Given the description of an element on the screen output the (x, y) to click on. 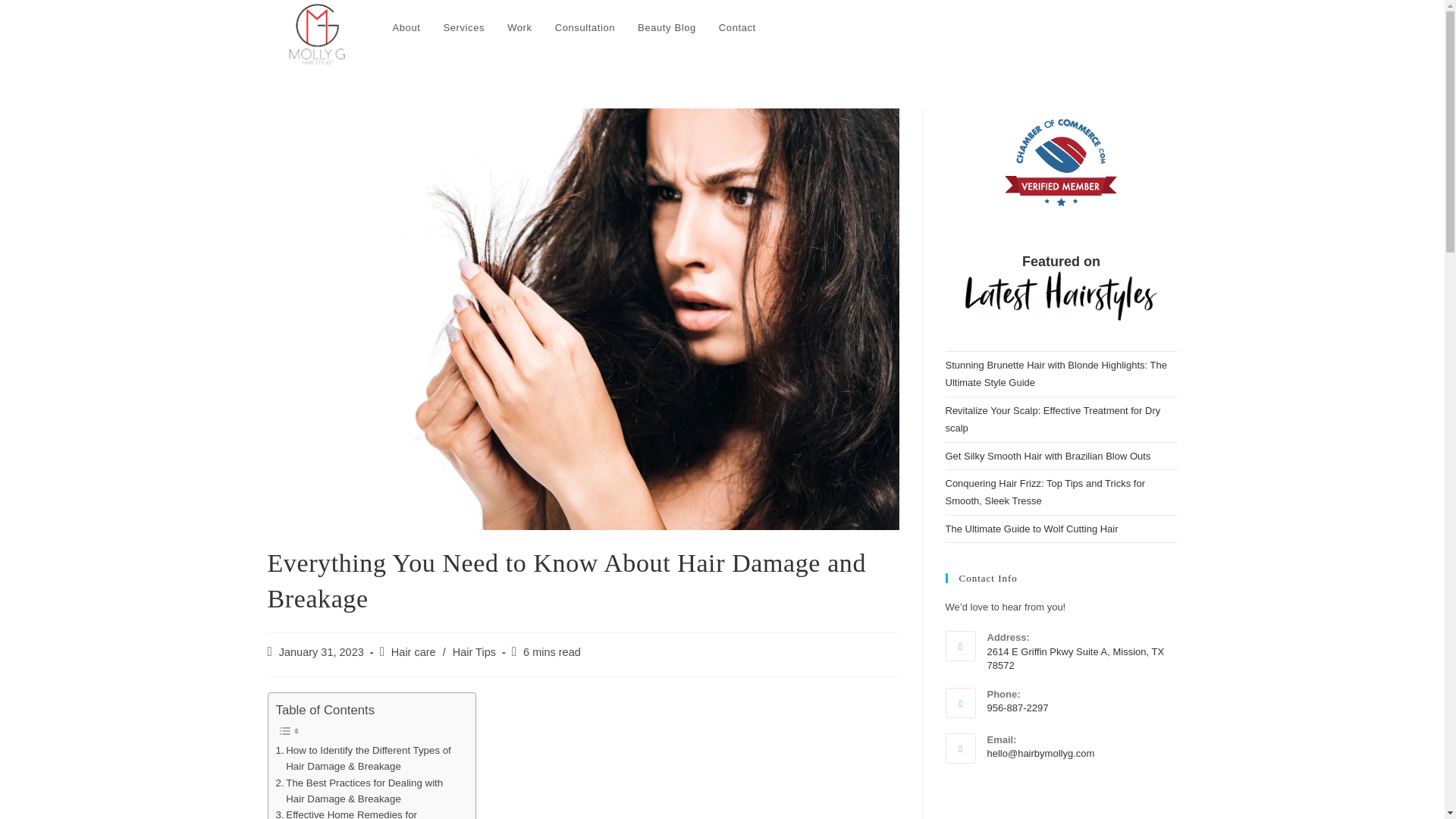
Beauty Blog (666, 28)
Contact (737, 28)
About (405, 28)
Hair care (413, 652)
Get Silky Smooth Hair with Brazilian Blow Outs (1047, 455)
Hair Tips (474, 652)
Consultation (584, 28)
chamberofcommerce (1061, 164)
Revitalize Your Scalp: Effective Treatment for Dry scalp (1052, 419)
Services (463, 28)
